Given the description of an element on the screen output the (x, y) to click on. 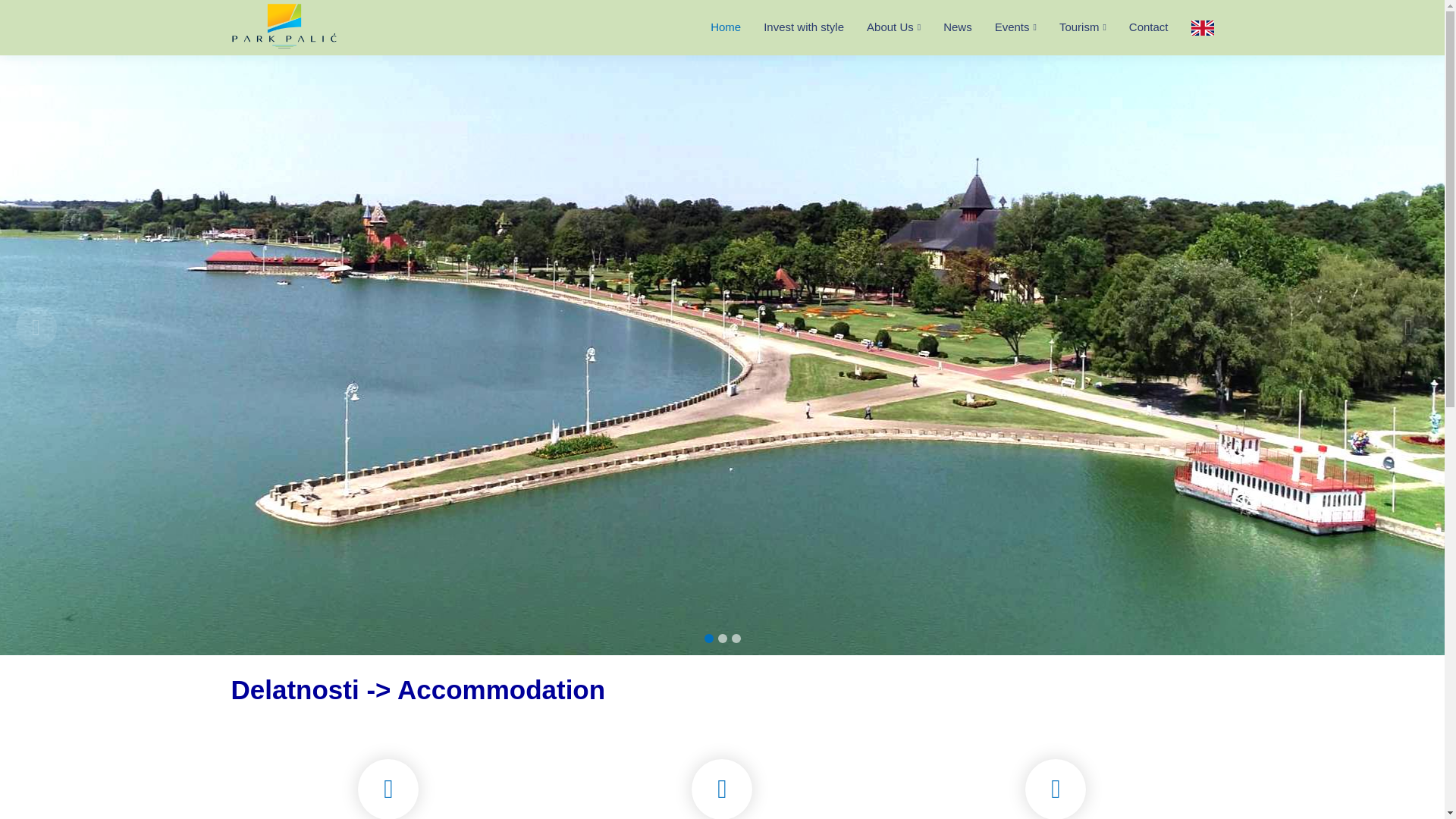
Contact (1137, 27)
Home (714, 27)
Tourism (1071, 27)
Invest with style (792, 27)
News (946, 27)
About Us (882, 27)
Events (1004, 27)
